Given the description of an element on the screen output the (x, y) to click on. 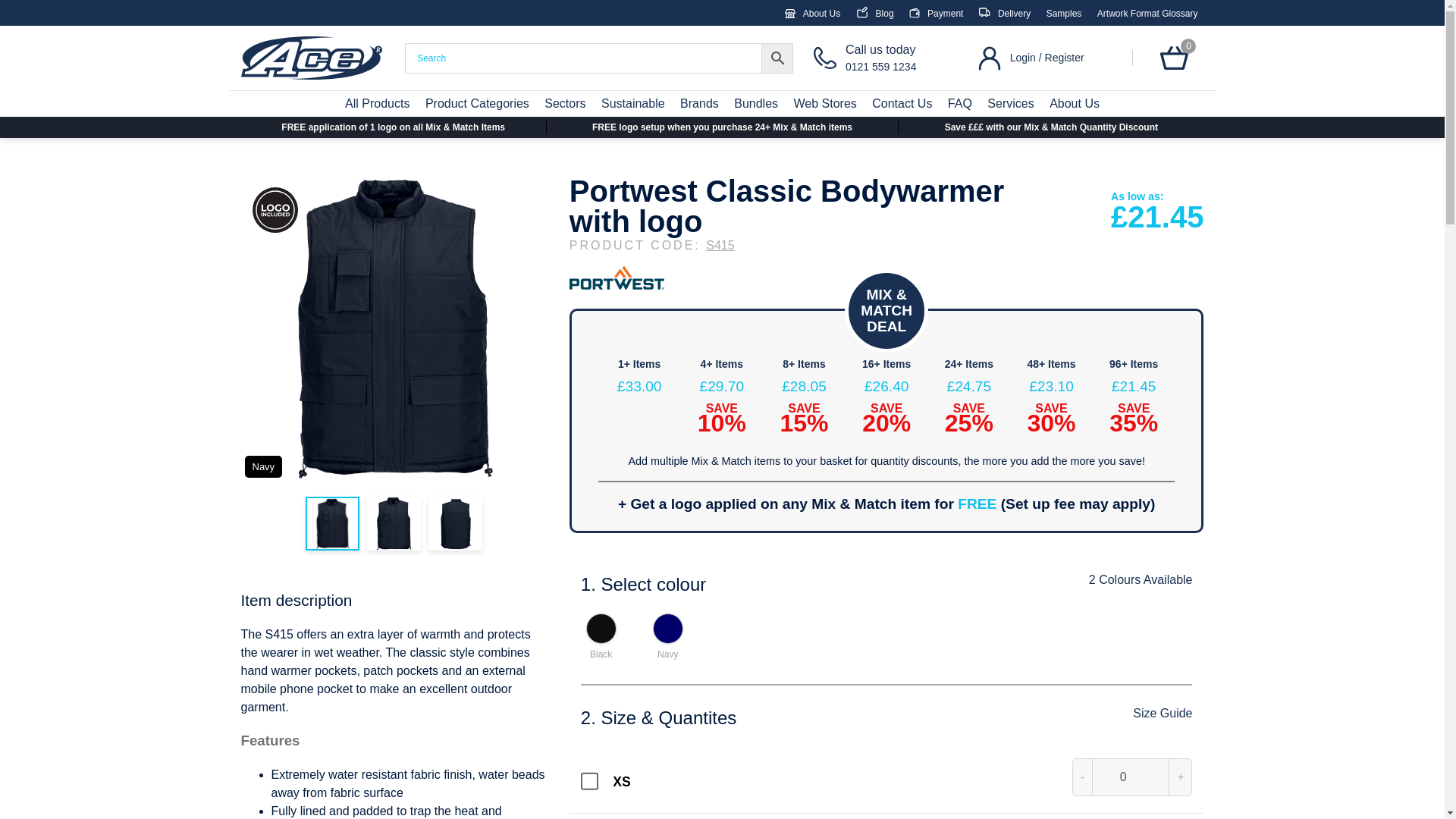
About Us (812, 13)
Delivery (1004, 13)
Artwork Format Glossary (1147, 13)
Payment (935, 13)
Blog (887, 57)
Samples (874, 13)
All Products (1063, 13)
0 (377, 103)
